Given the description of an element on the screen output the (x, y) to click on. 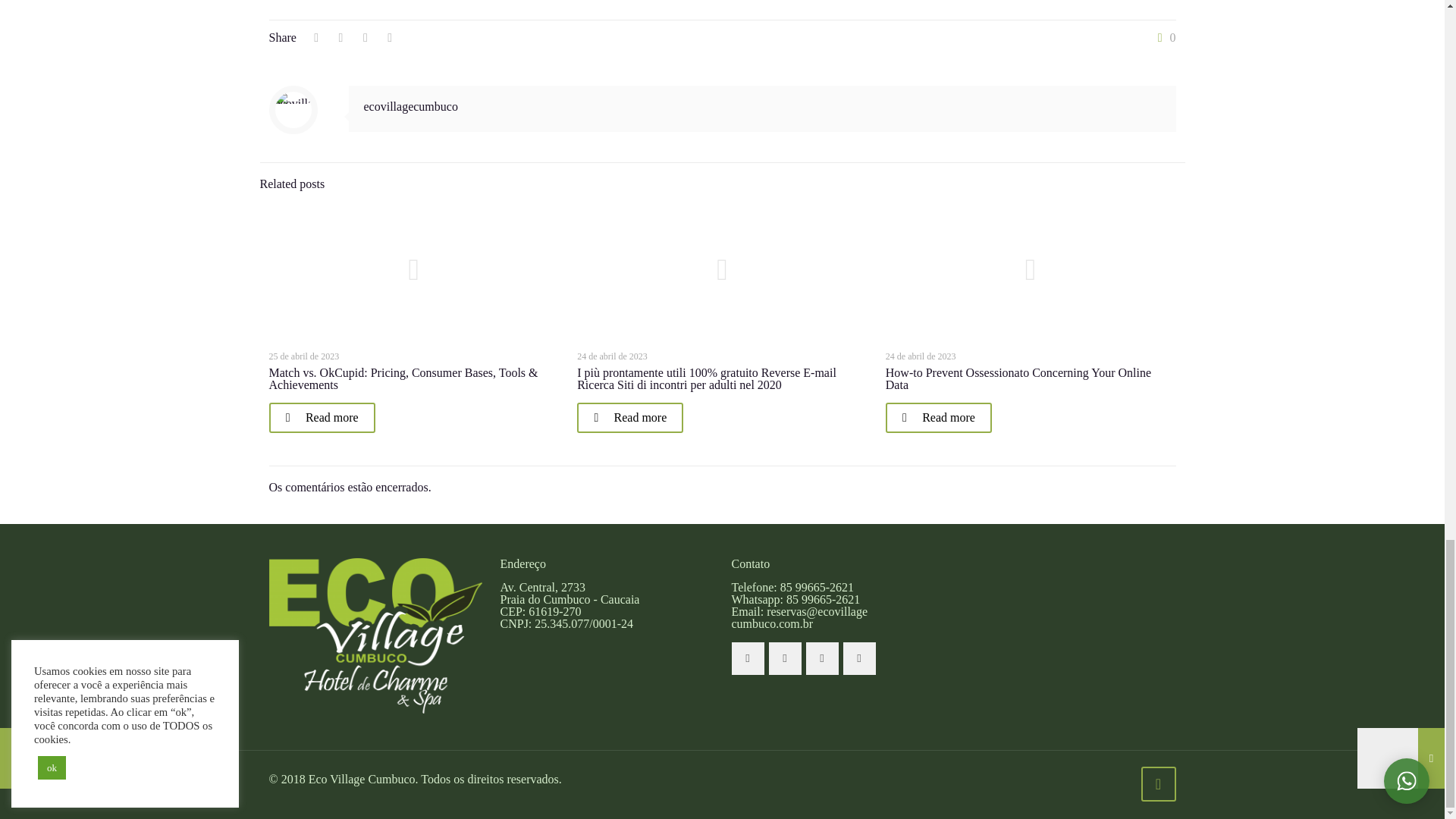
ecovillagecumbuco (411, 106)
Read more (629, 417)
How-to Prevent Ossessionato Concerning Your Online Data (1018, 378)
0 (1162, 37)
Read more (938, 417)
Desenvolvimento de sites em Fortaleza (26, 784)
Read more (320, 417)
